Given the description of an element on the screen output the (x, y) to click on. 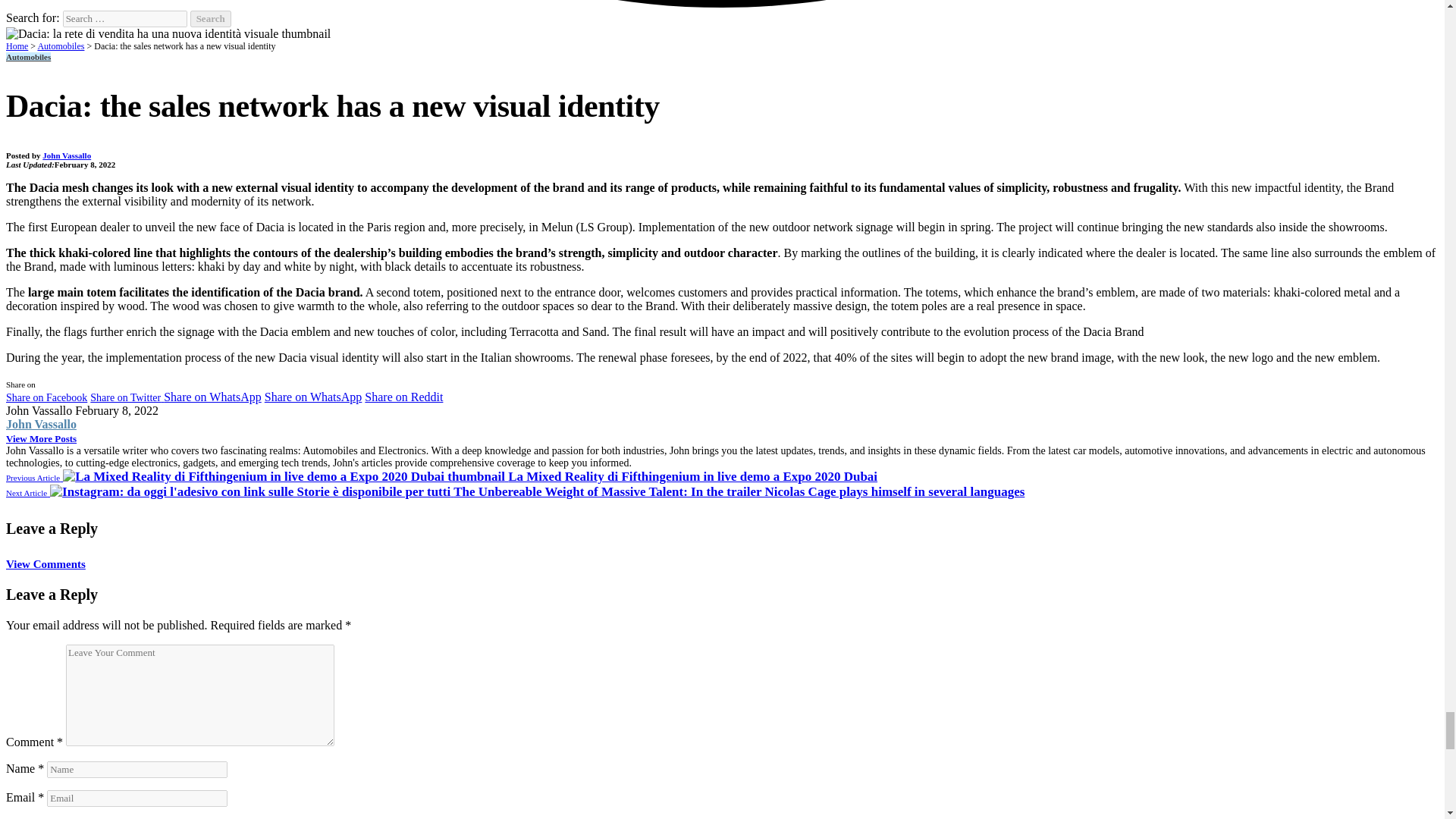
Search (210, 18)
Search (210, 18)
